Given the description of an element on the screen output the (x, y) to click on. 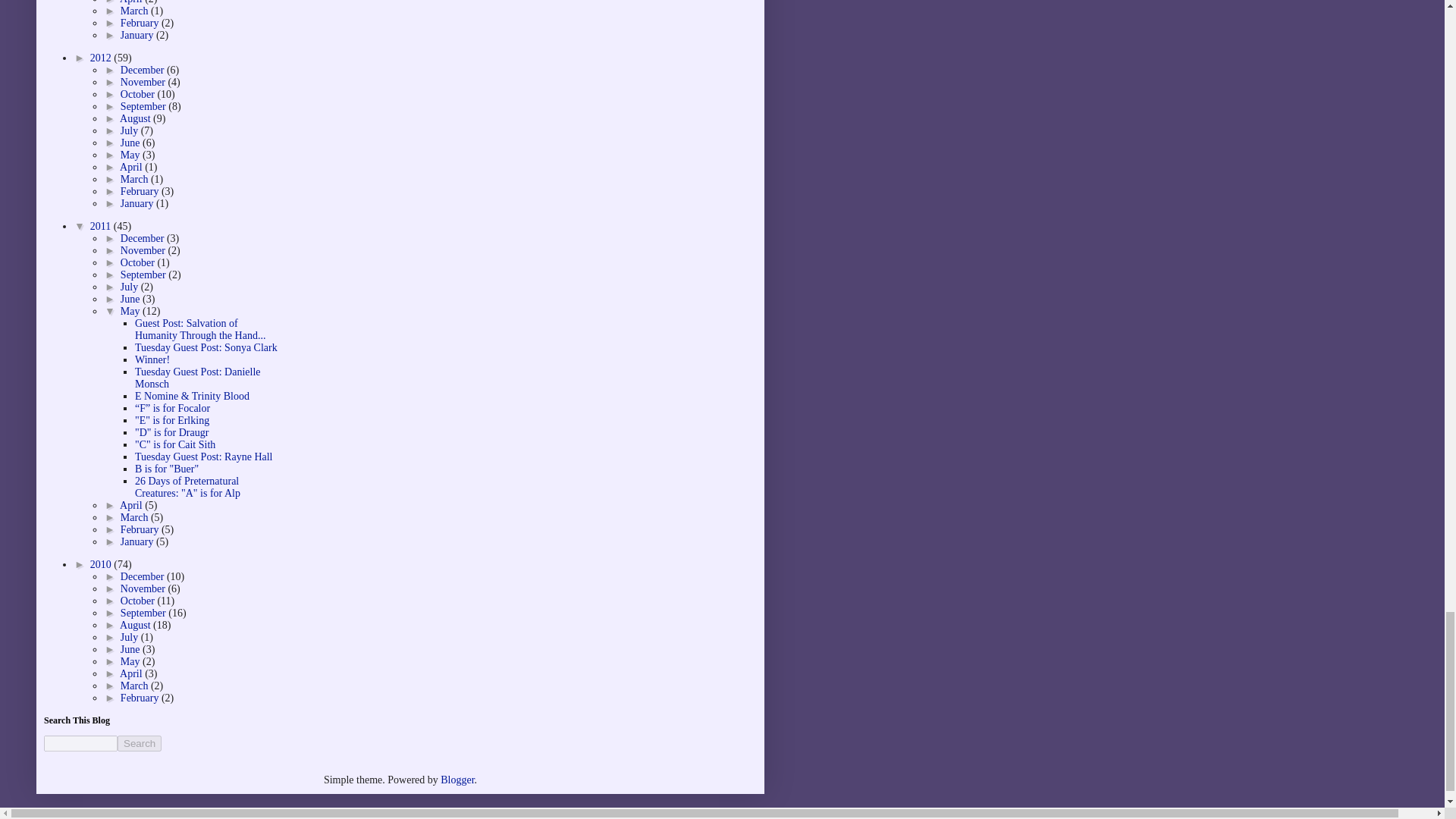
Search (139, 743)
Search (139, 743)
